Given the description of an element on the screen output the (x, y) to click on. 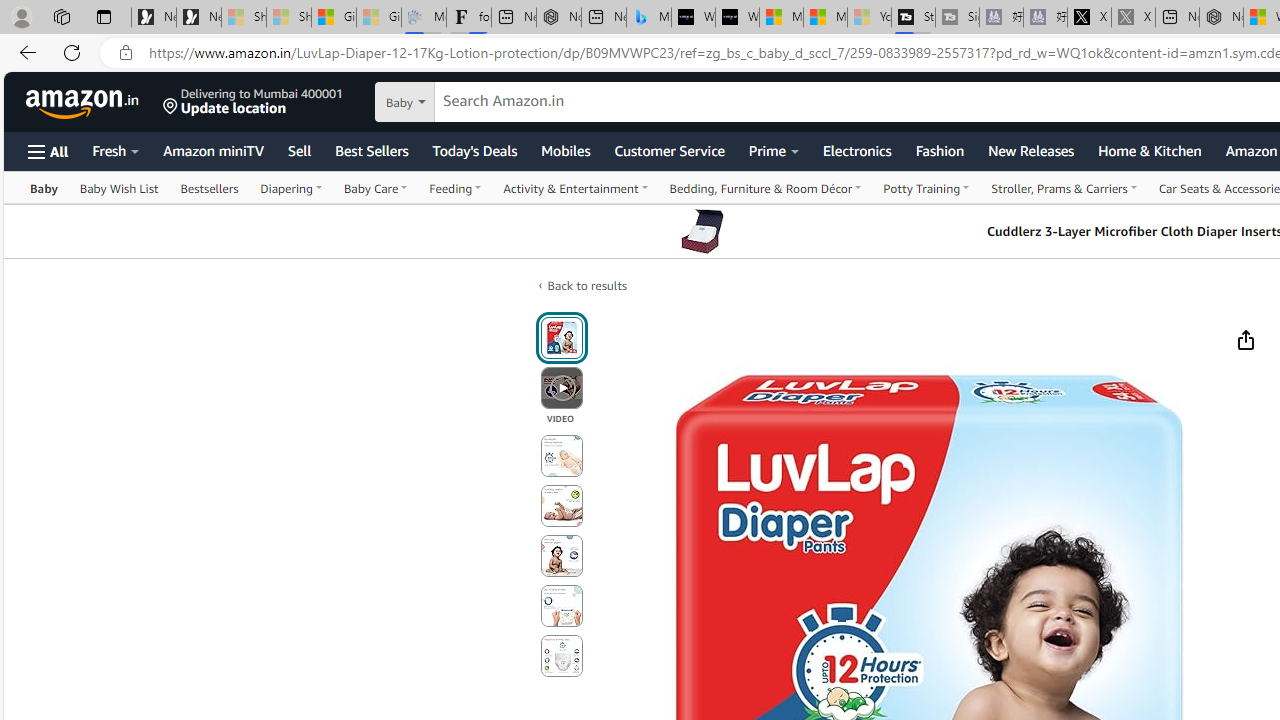
Home & Kitchen (1149, 150)
Fashion (939, 150)
Cuddlerz 3-Layer Microfiber Cloth Diaper Inserts (Pack of 2) (702, 231)
Open Menu (48, 151)
Back to results (586, 286)
Today's Deals (474, 150)
New Releases (1030, 150)
Baby Wish List (118, 187)
